Given the description of an element on the screen output the (x, y) to click on. 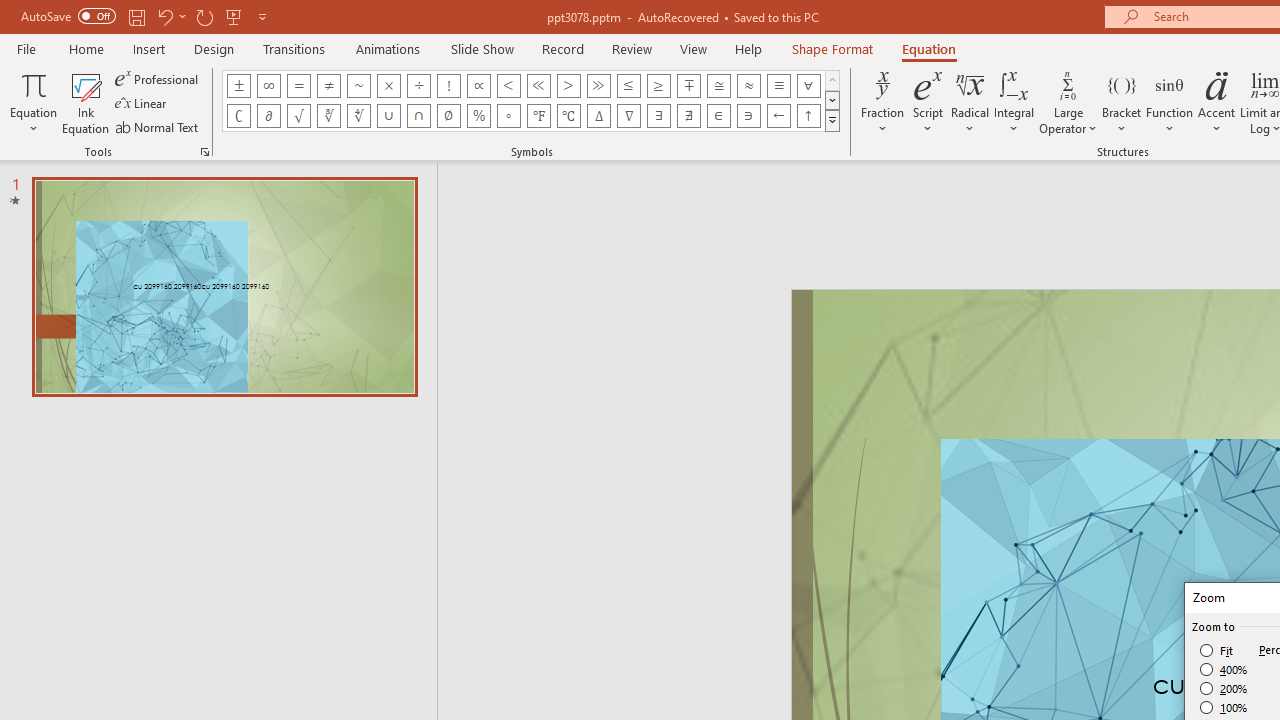
Equation Symbol Much Greater Than (598, 85)
Equation Symbols (832, 120)
Equation Symbol Degrees Celsius (568, 115)
Equation Symbol Union (388, 115)
Equation Symbol Factorial (448, 85)
Equation Symbol Multiplication Sign (388, 85)
